Given the description of an element on the screen output the (x, y) to click on. 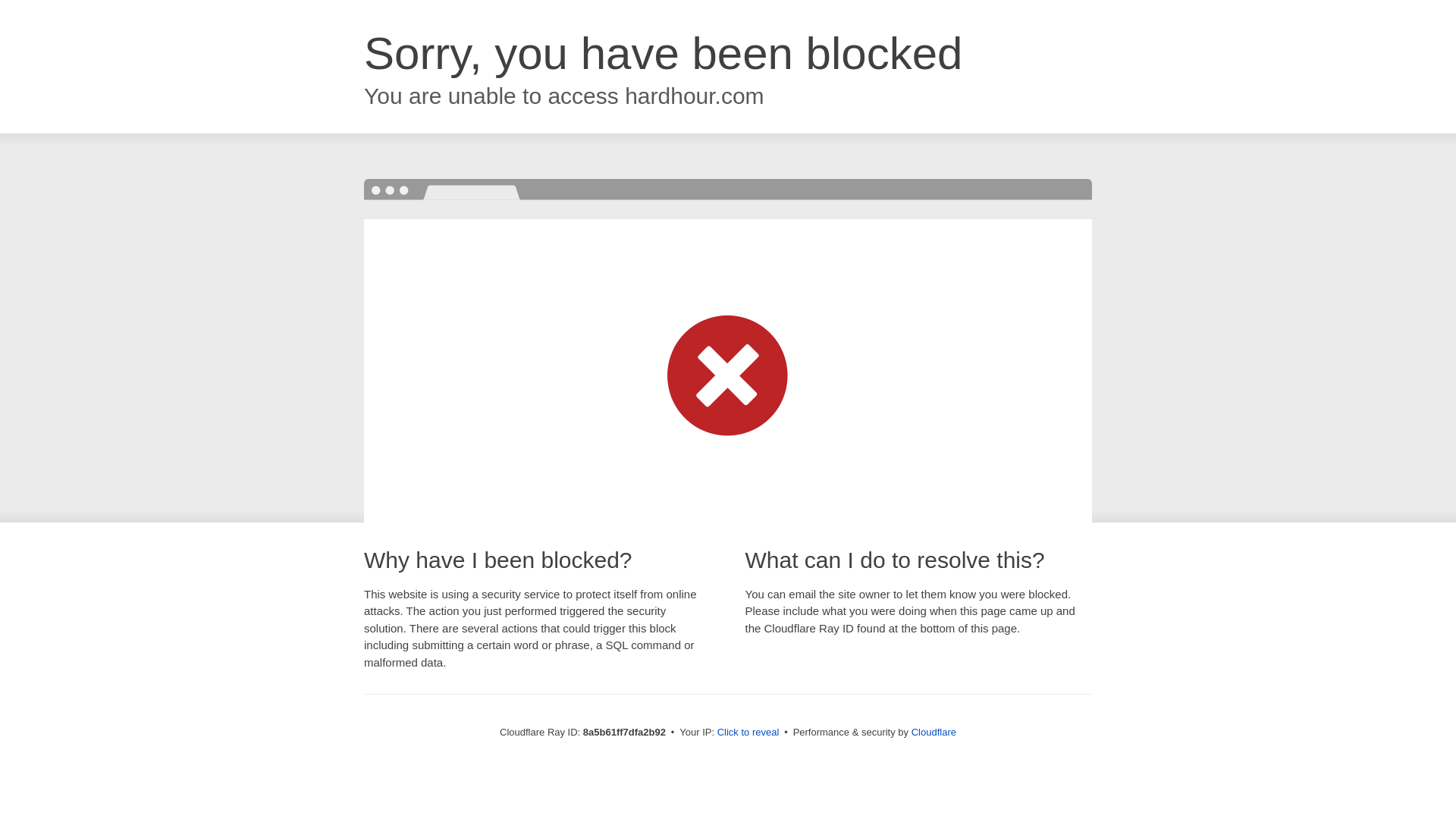
Cloudflare (933, 731)
Click to reveal (747, 732)
